Given the description of an element on the screen output the (x, y) to click on. 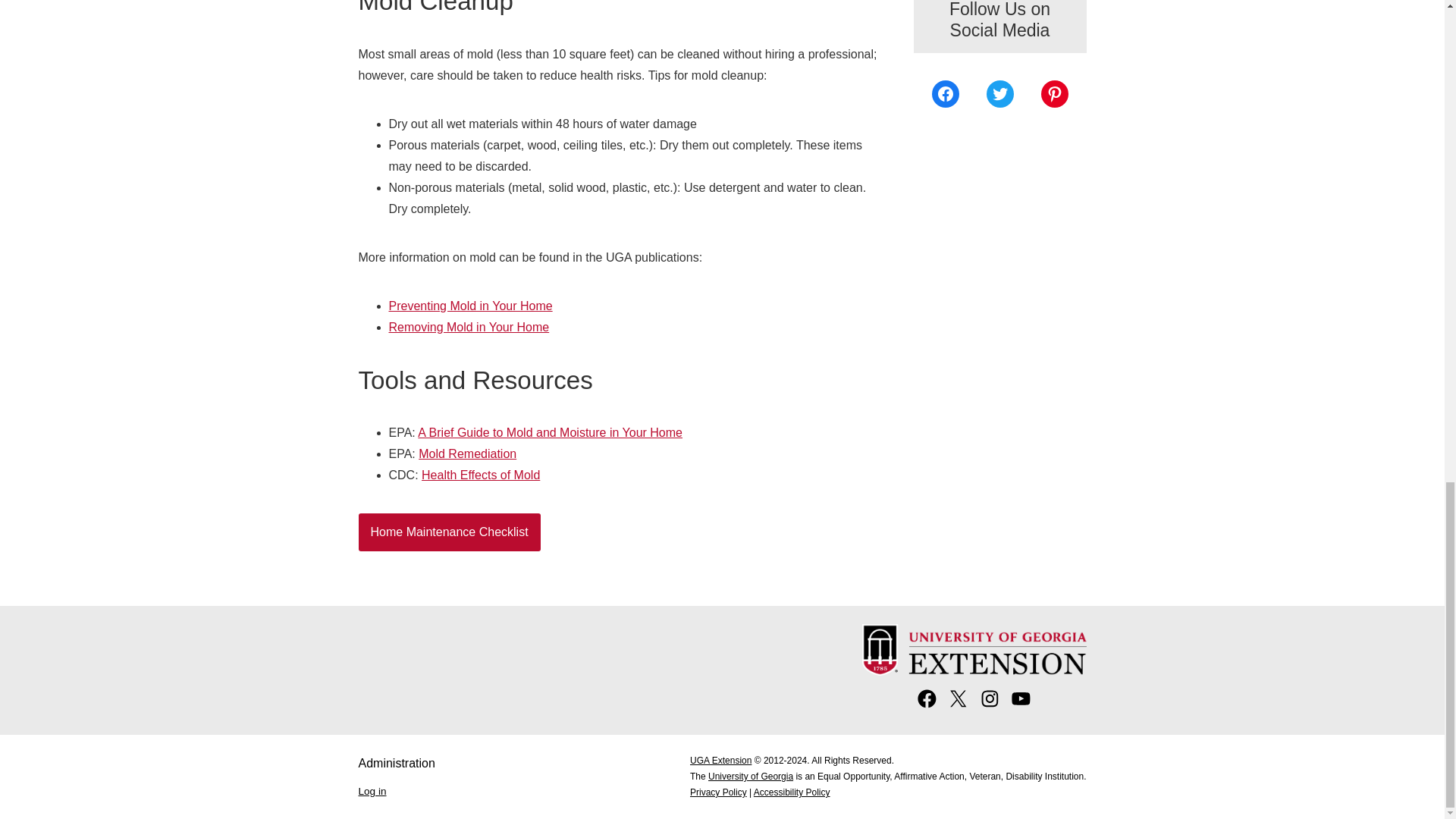
Health Effects of Mold (481, 474)
Instagram (989, 705)
University of Georgia (750, 776)
Facebook (944, 93)
Log in (371, 790)
Removing Mold in Your Home (468, 327)
Preventing Mold in Your Home (469, 305)
YouTube (1021, 705)
Twitter (999, 93)
UGA Extension (720, 760)
